Given the description of an element on the screen output the (x, y) to click on. 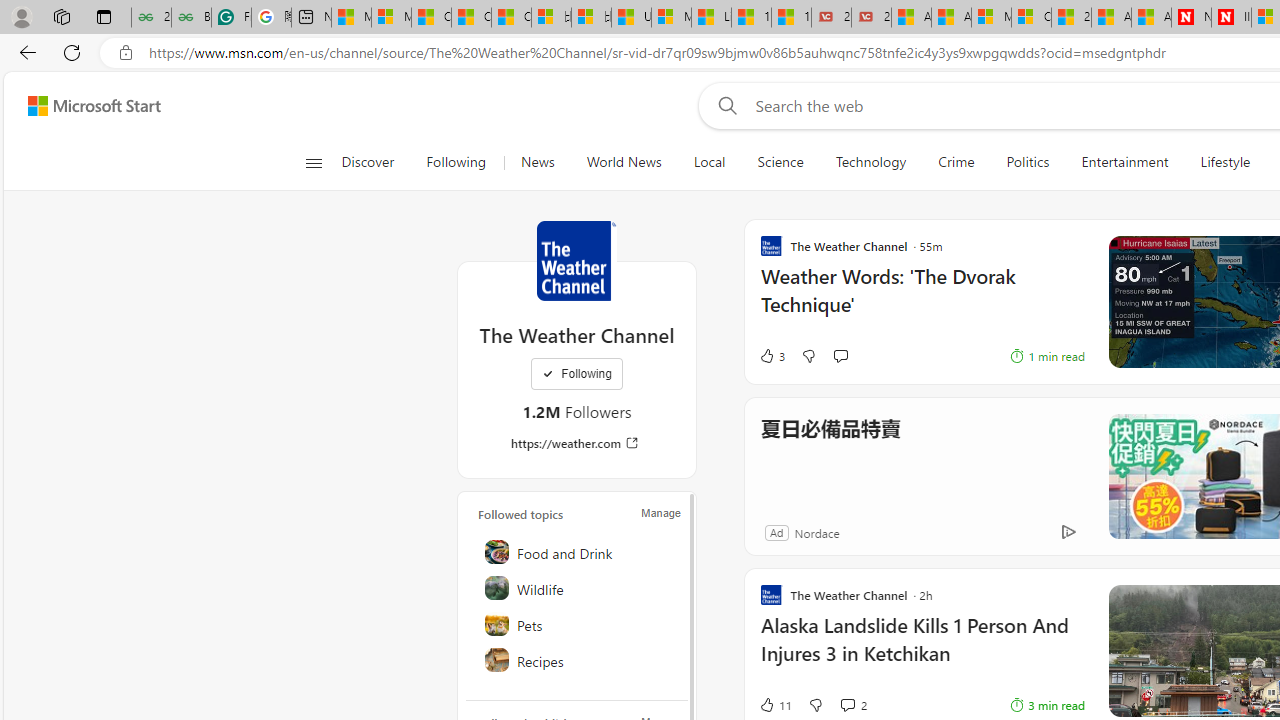
Recipes (578, 659)
20 Ways to Boost Your Protein Intake at Every Meal (1071, 17)
Newsweek - News, Analysis, Politics, Business, Technology (1191, 17)
View comments 2 Comment (847, 704)
The Weather Channel (576, 260)
View comments 2 Comment (852, 704)
